Given the description of an element on the screen output the (x, y) to click on. 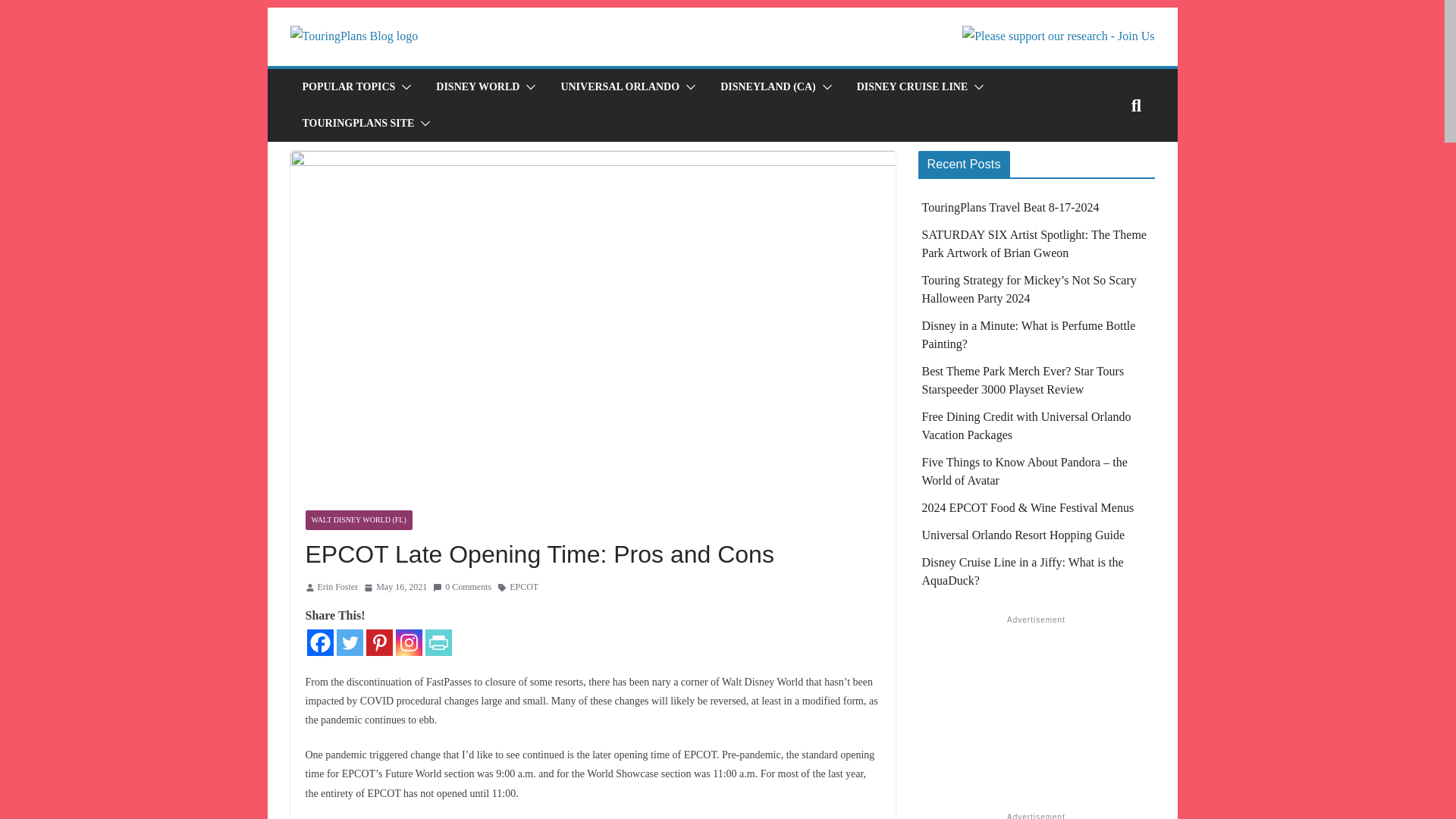
PrintFriendly (438, 642)
1:00 pm (395, 587)
TOURINGPLANS SITE (357, 123)
Twitter (349, 642)
DISNEY CRUISE LINE (912, 86)
Pinterest (378, 642)
POPULAR TOPICS (347, 86)
Erin Foster (337, 587)
DISNEY WORLD (477, 86)
